Given the description of an element on the screen output the (x, y) to click on. 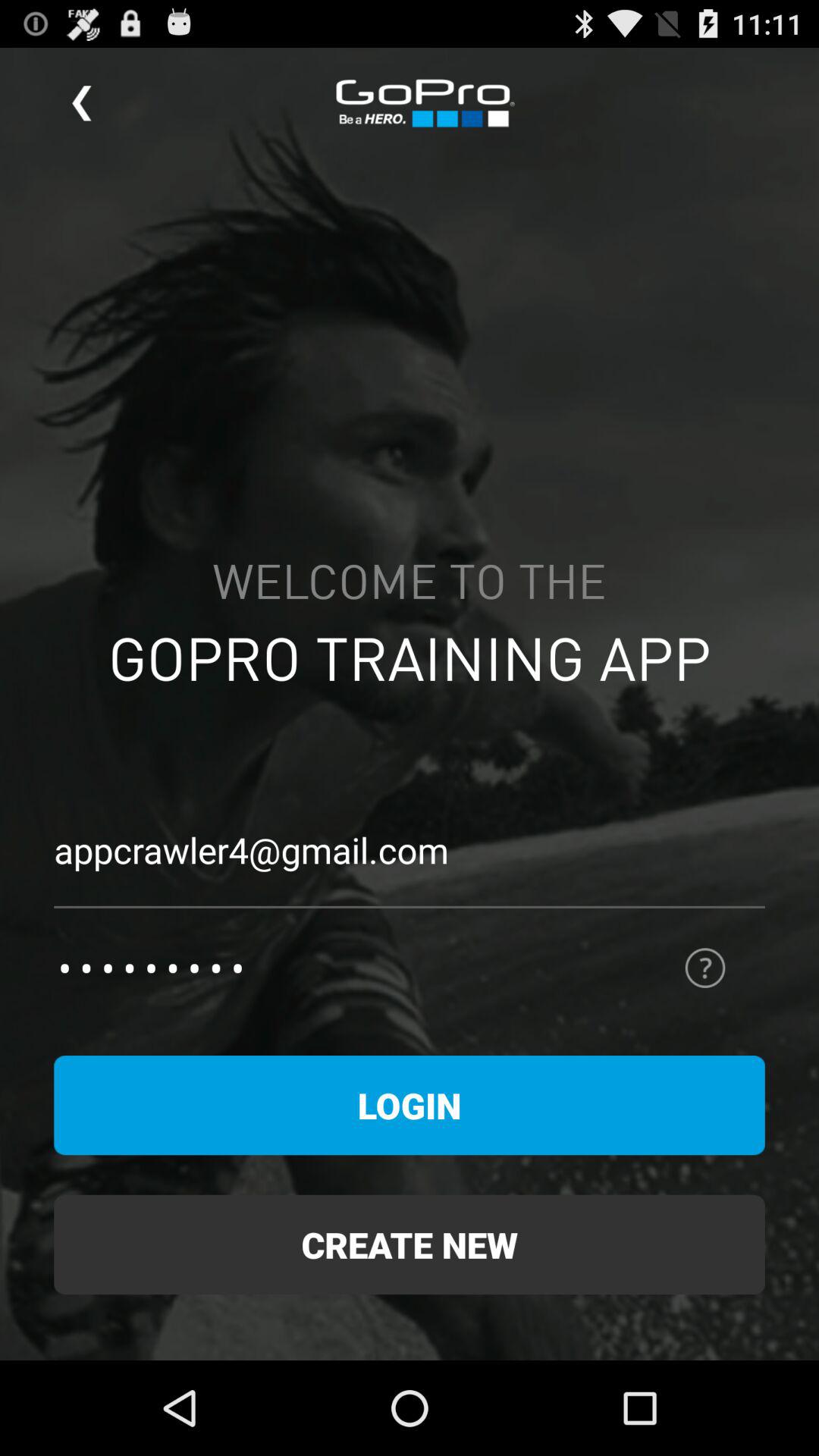
back (81, 102)
